Given the description of an element on the screen output the (x, y) to click on. 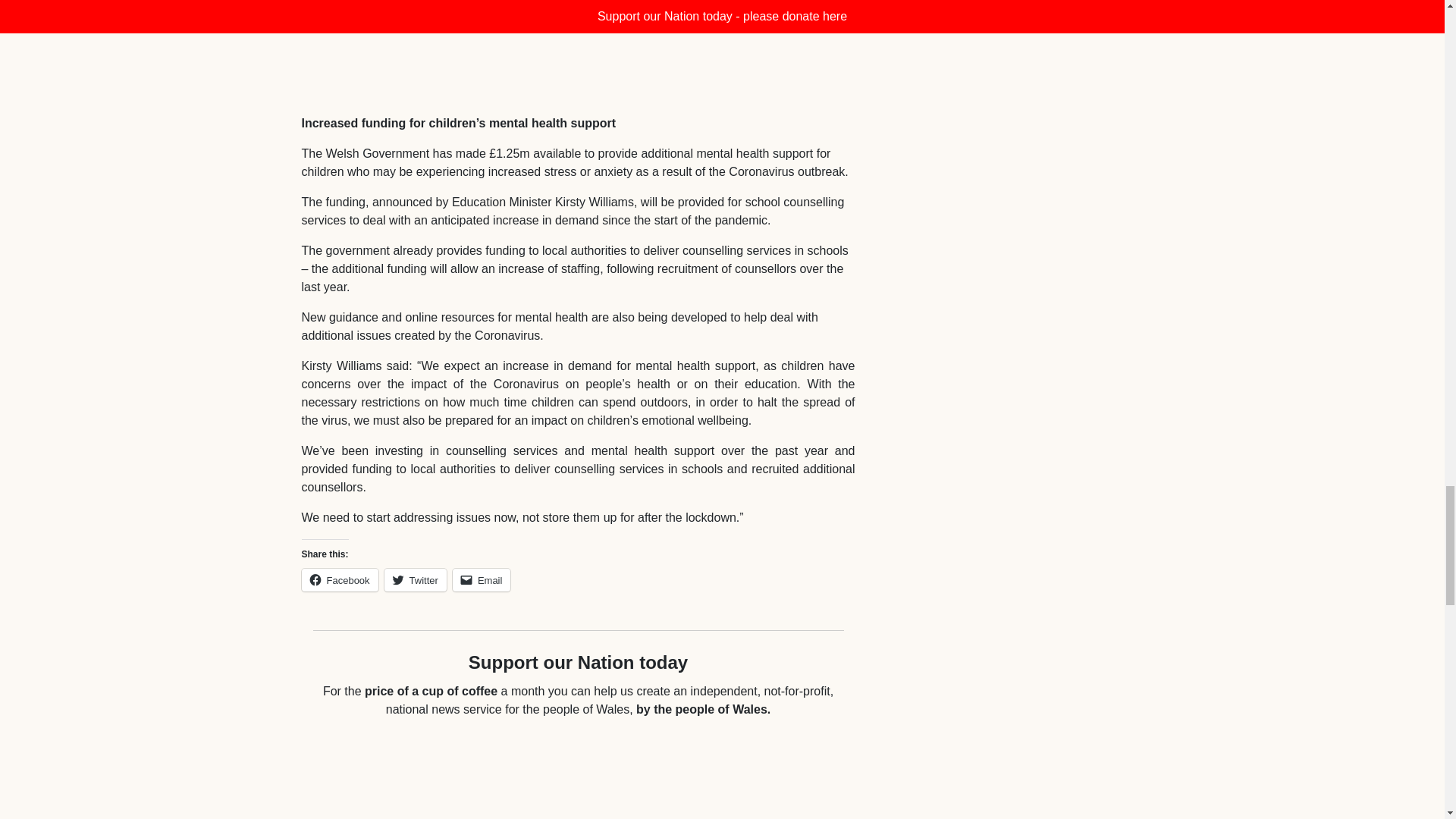
Twitter (415, 579)
Click to email a link to a friend (481, 579)
Email (481, 579)
Facebook (339, 579)
Click to share on Facebook (339, 579)
Click to share on Twitter (415, 579)
